Given the description of an element on the screen output the (x, y) to click on. 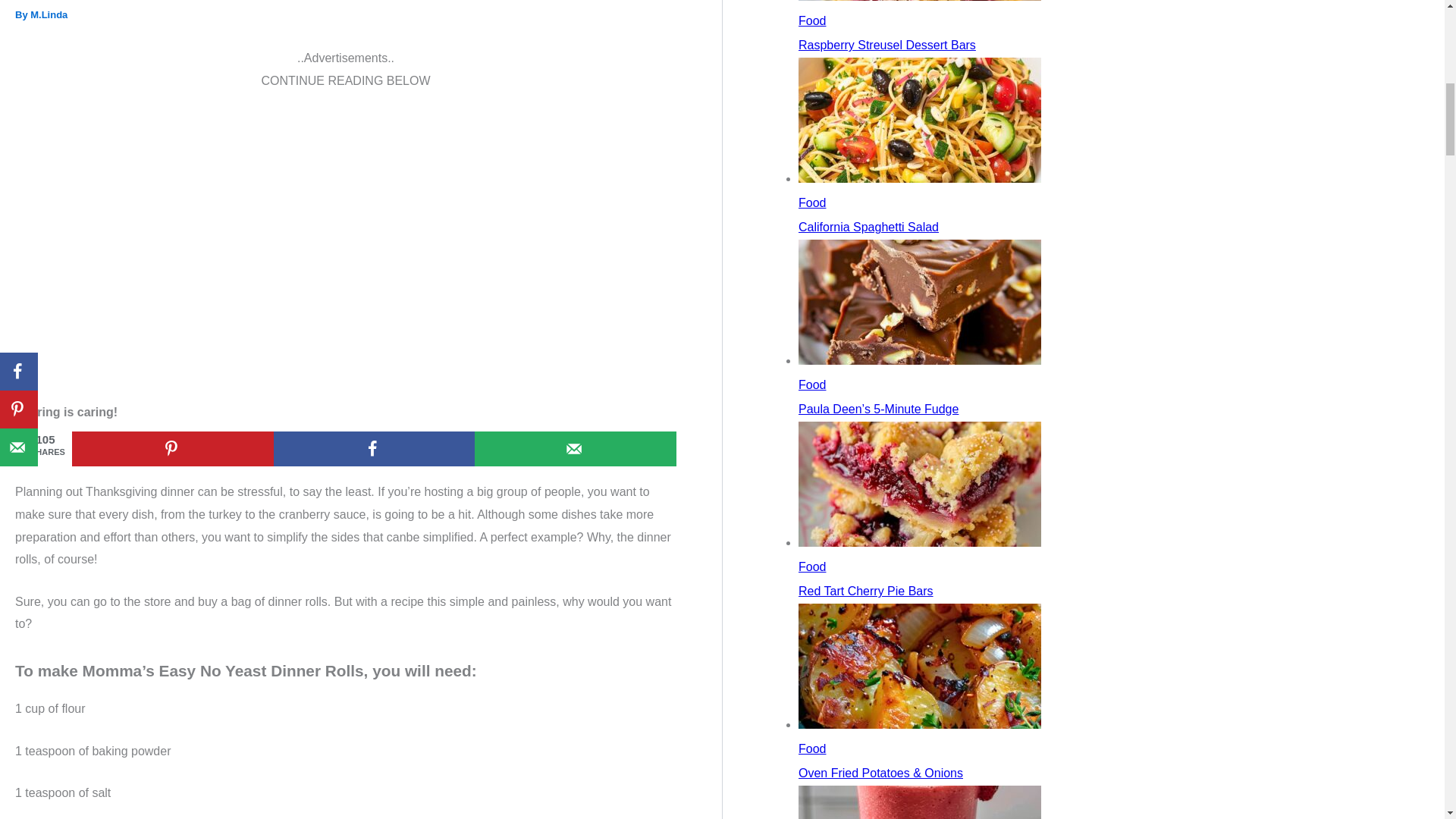
View all posts by M.Linda (48, 14)
Send over email (575, 448)
Save to Pinterest (172, 448)
M.Linda (48, 14)
Share on Facebook (374, 448)
